Given the description of an element on the screen output the (x, y) to click on. 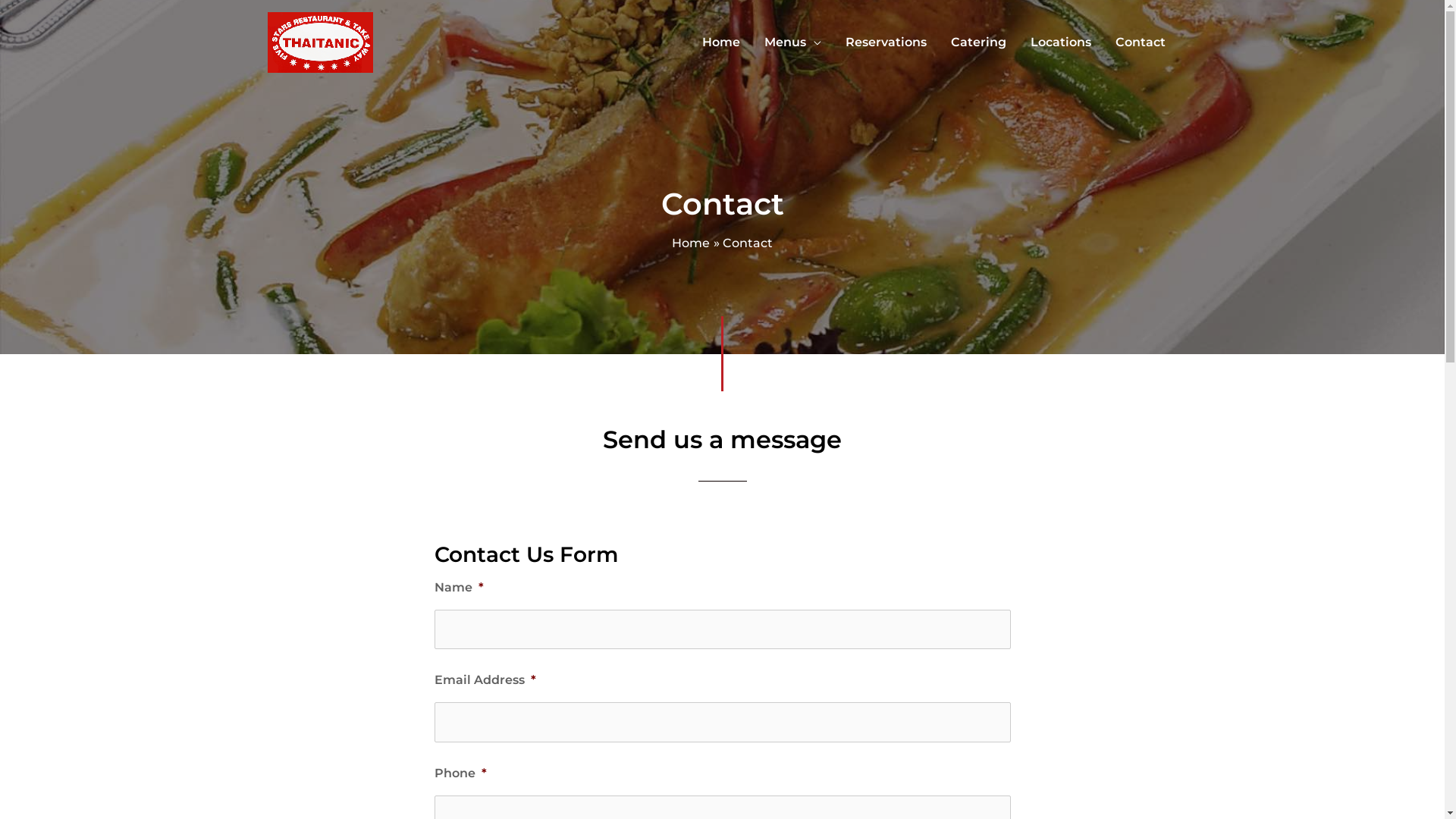
Locations Element type: text (1059, 42)
Contact Element type: text (1139, 42)
Menus Element type: text (792, 42)
Reservations Element type: text (885, 42)
Home Element type: text (690, 242)
Catering Element type: text (978, 42)
Home Element type: text (721, 42)
